Given the description of an element on the screen output the (x, y) to click on. 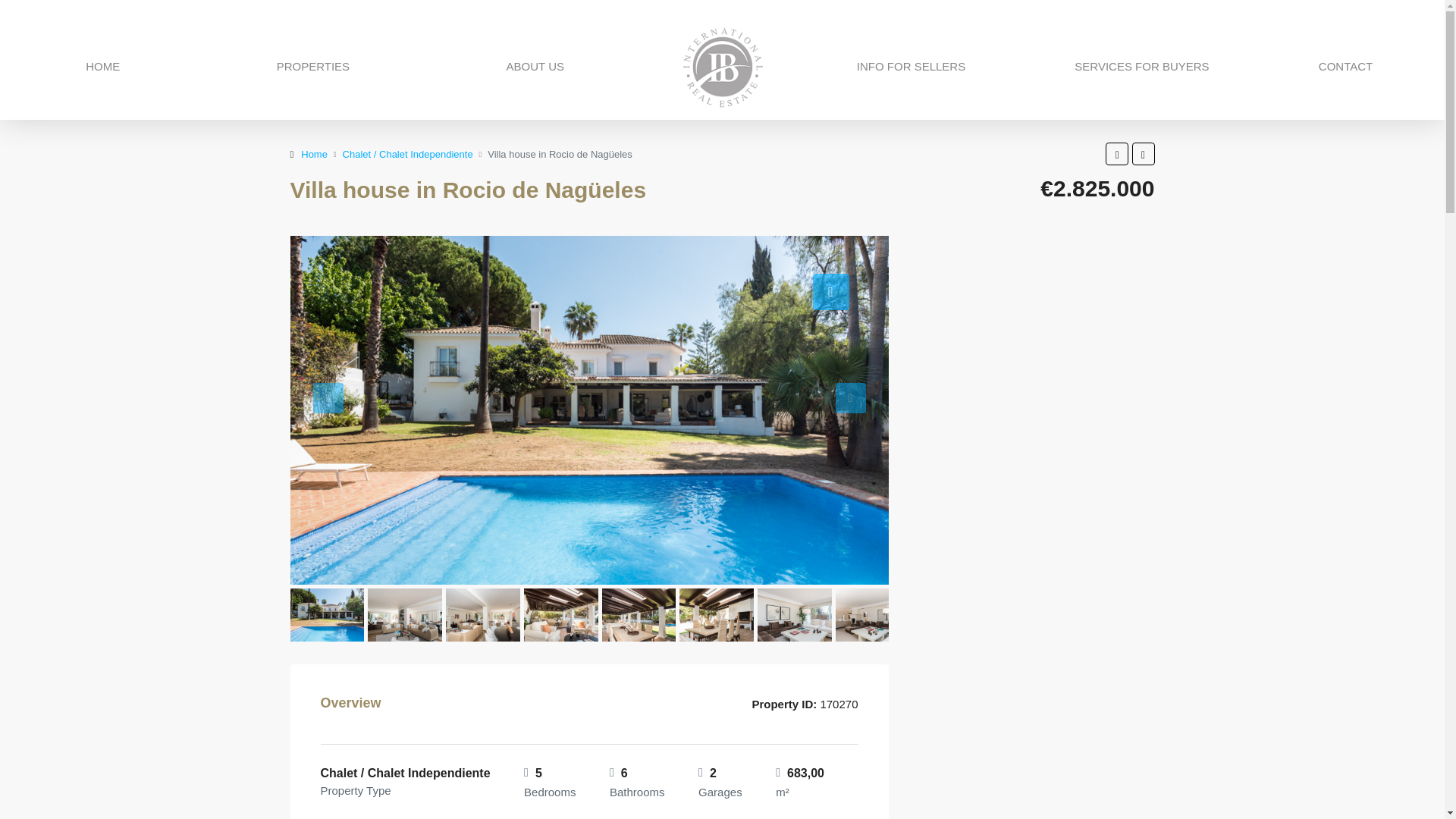
HOME (102, 66)
INFO FOR SELLERS (911, 66)
ABOUT US (535, 66)
SERVICES FOR BUYERS (1141, 66)
Home (314, 153)
PROPERTIES (313, 66)
Logo-IBInternational-grey-180 (722, 66)
CONTACT (1345, 66)
